Given the description of an element on the screen output the (x, y) to click on. 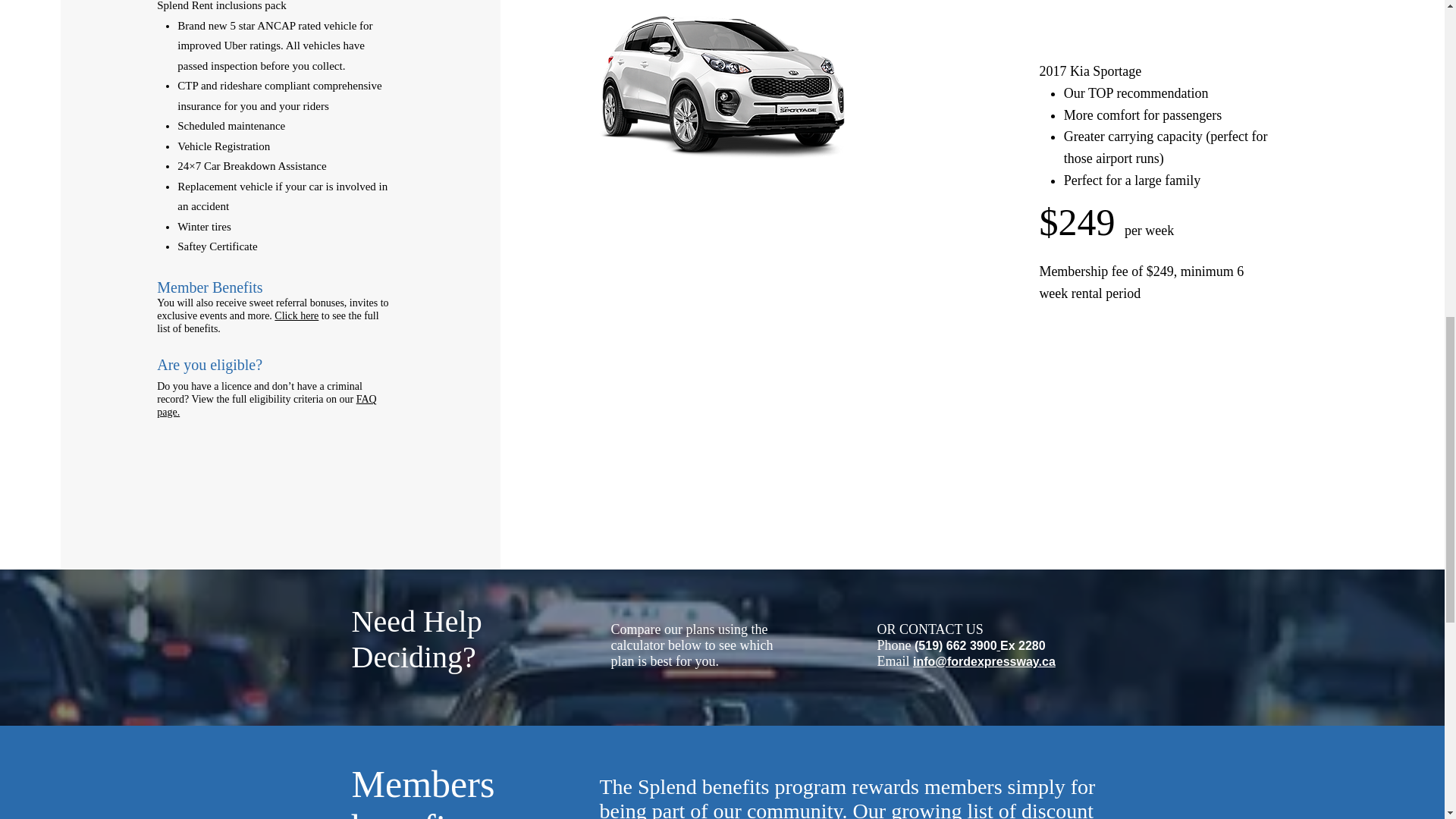
FAQ page. (266, 404)
Click here (296, 315)
